Given the description of an element on the screen output the (x, y) to click on. 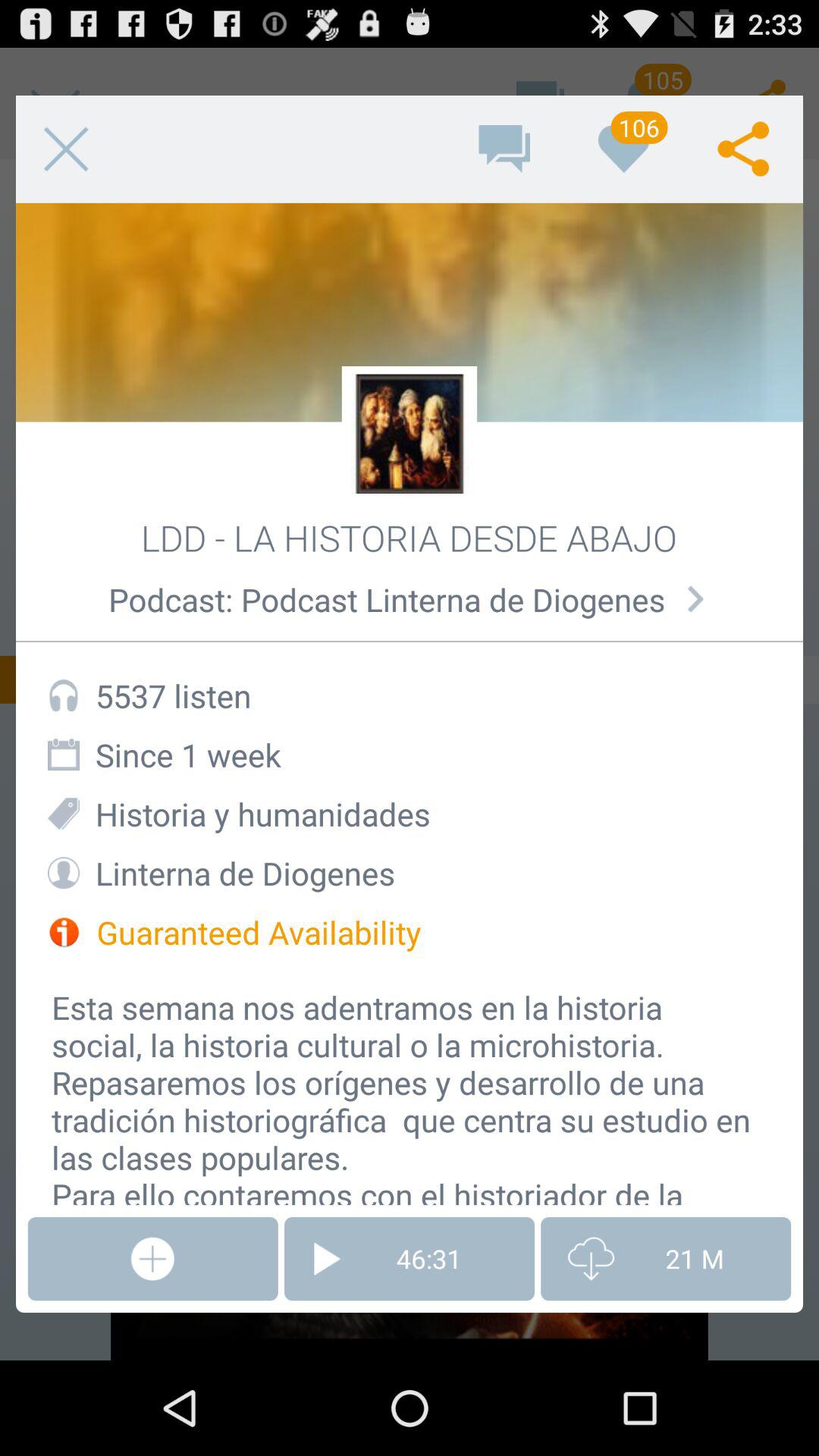
swipe until the 21 m (665, 1258)
